Given the description of an element on the screen output the (x, y) to click on. 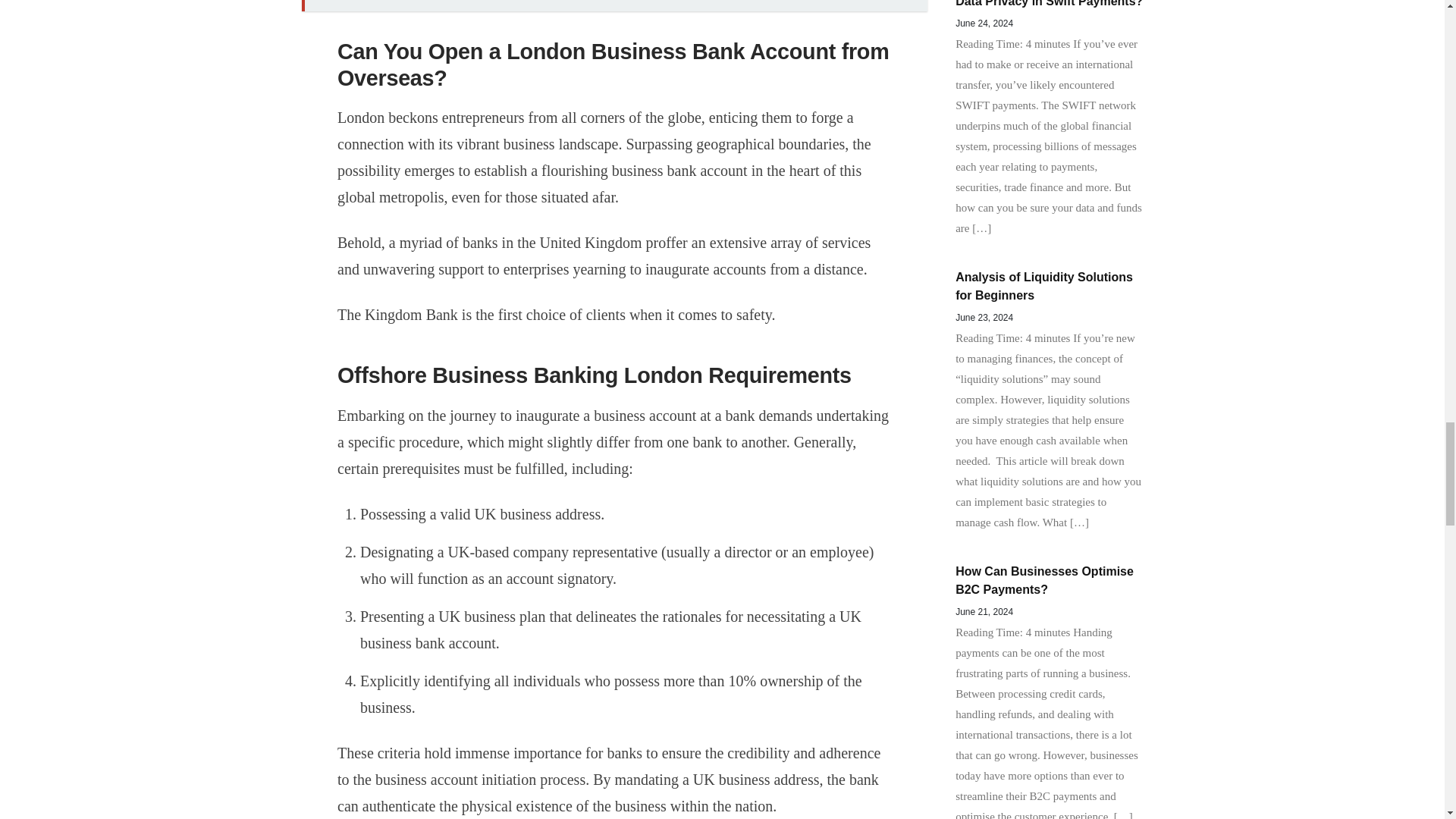
See also  Become an Introducing Broker in 2023 and Earn (614, 5)
